Given the description of an element on the screen output the (x, y) to click on. 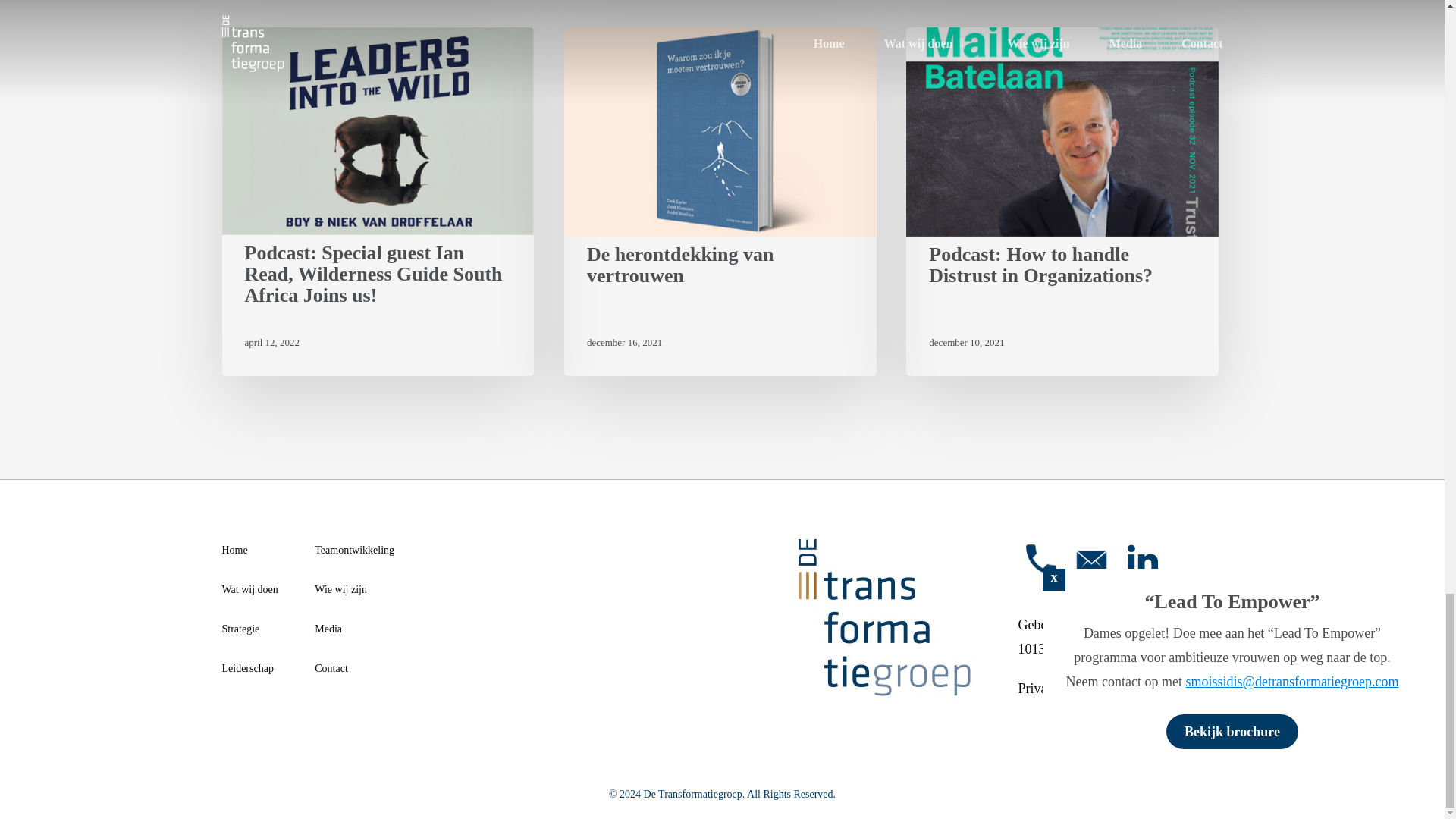
Home (234, 550)
Wat wij doen (249, 589)
Strategie (240, 628)
Leiderschap (247, 668)
